Given the description of an element on the screen output the (x, y) to click on. 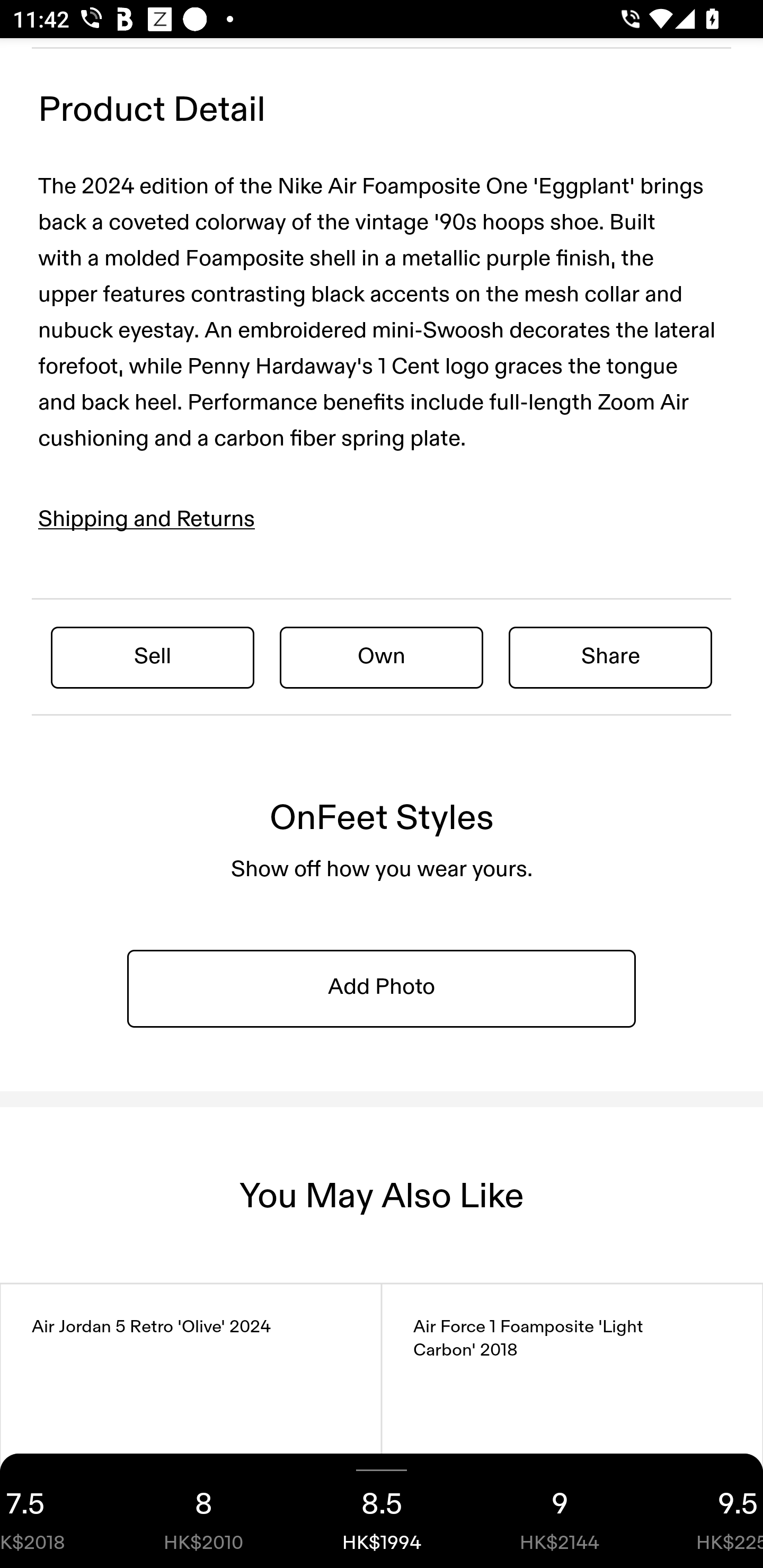
Shipping and Returns (146, 519)
Sell (152, 656)
Own (381, 656)
Share (609, 656)
Add Photo (381, 987)
Air Jordan 5 Retro 'Olive' 2024 (190, 1426)
Air Force 1 Foamposite 'Light Carbon' 2018 (572, 1426)
7.5 HK$2018 (57, 1510)
8 HK$2010 (203, 1510)
8.5 HK$1994 (381, 1510)
9 HK$2144 (559, 1510)
9.5 HK$2255 (705, 1510)
